Given the description of an element on the screen output the (x, y) to click on. 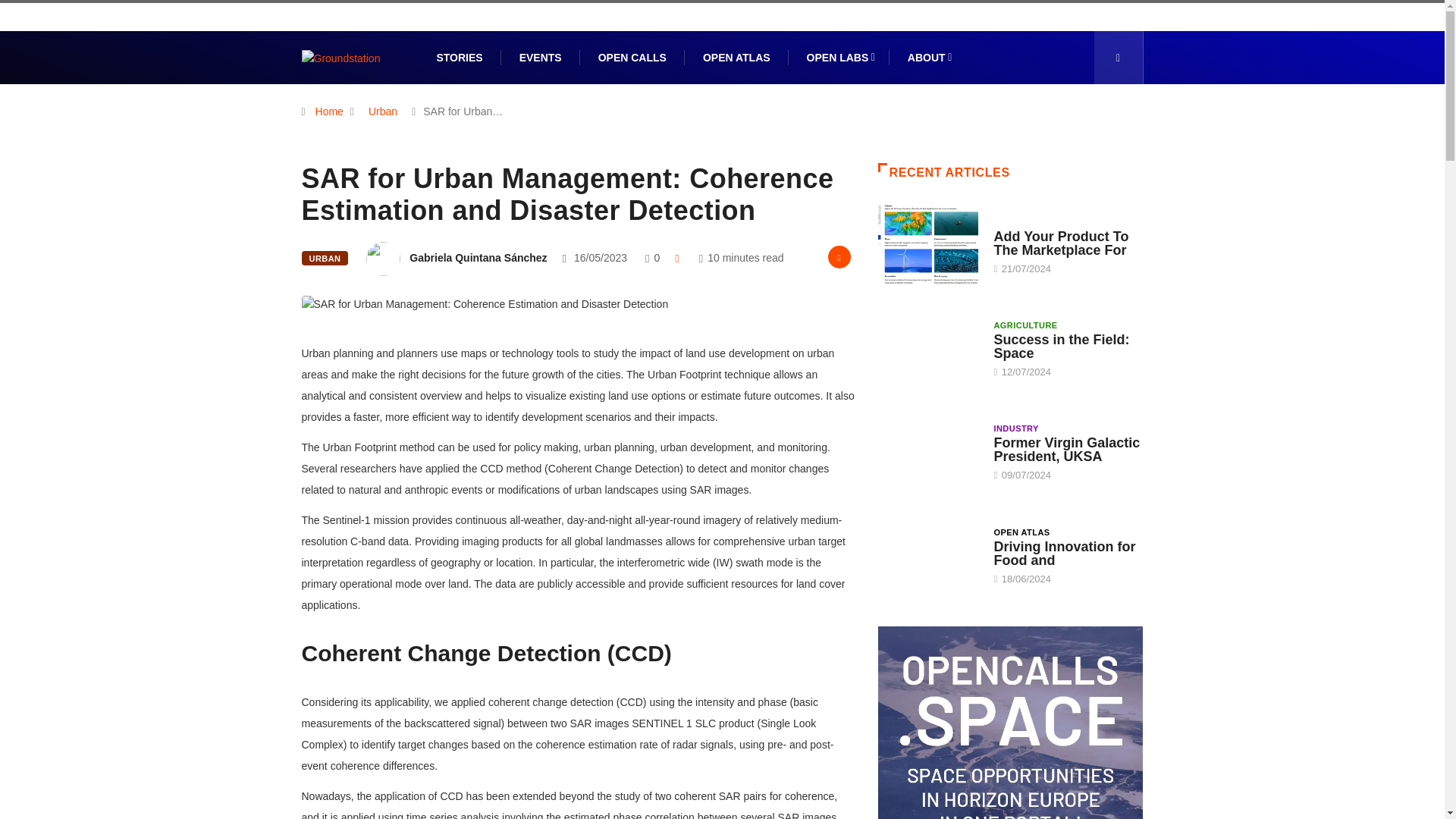
Success in the Field: Space for Water and Food Security (1060, 346)
Success in the Field: Space for Water and Food Security (927, 347)
Urban (382, 111)
OPEN CALLS (632, 57)
URBAN (325, 257)
popup modal for search (1117, 57)
OPEN ATLAS (736, 57)
Home (329, 111)
OPEN LABS (838, 57)
